Given the description of an element on the screen output the (x, y) to click on. 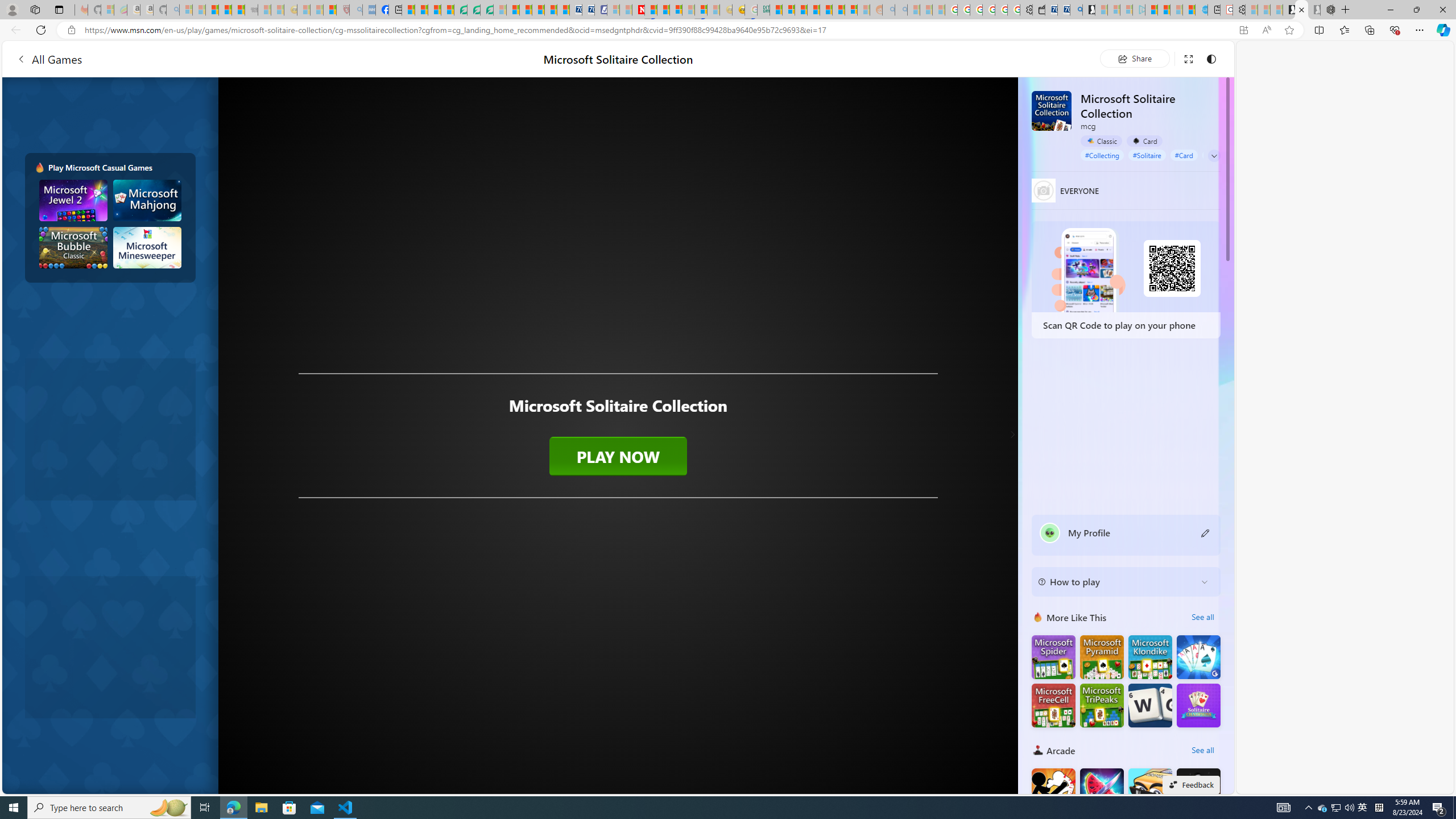
#Card (1184, 155)
Stickman Fighter : Mega Brawl (1053, 789)
Fruit Chopper (1101, 789)
How to play (1116, 581)
